Given the description of an element on the screen output the (x, y) to click on. 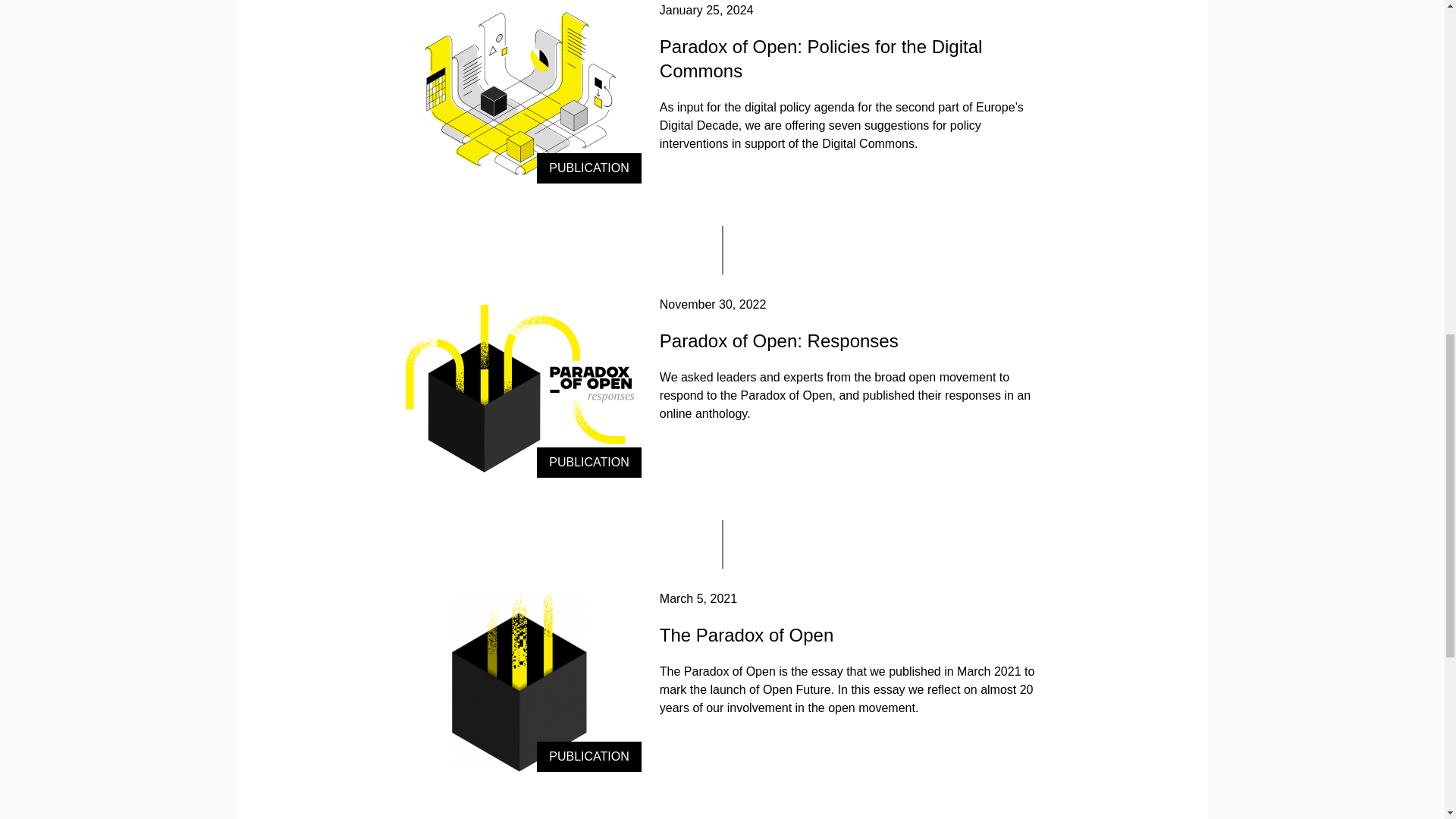
Paradox of Open: Policies for the Digital Commons (820, 58)
PUBLICATION (520, 386)
March 5, 2021 (697, 598)
Paradox of Open: Responses (778, 340)
PUBLICATION (520, 680)
PUBLICATION (520, 92)
The Paradox of Open (745, 634)
January 25, 2024 (706, 10)
November 30, 2022 (713, 304)
